Given the description of an element on the screen output the (x, y) to click on. 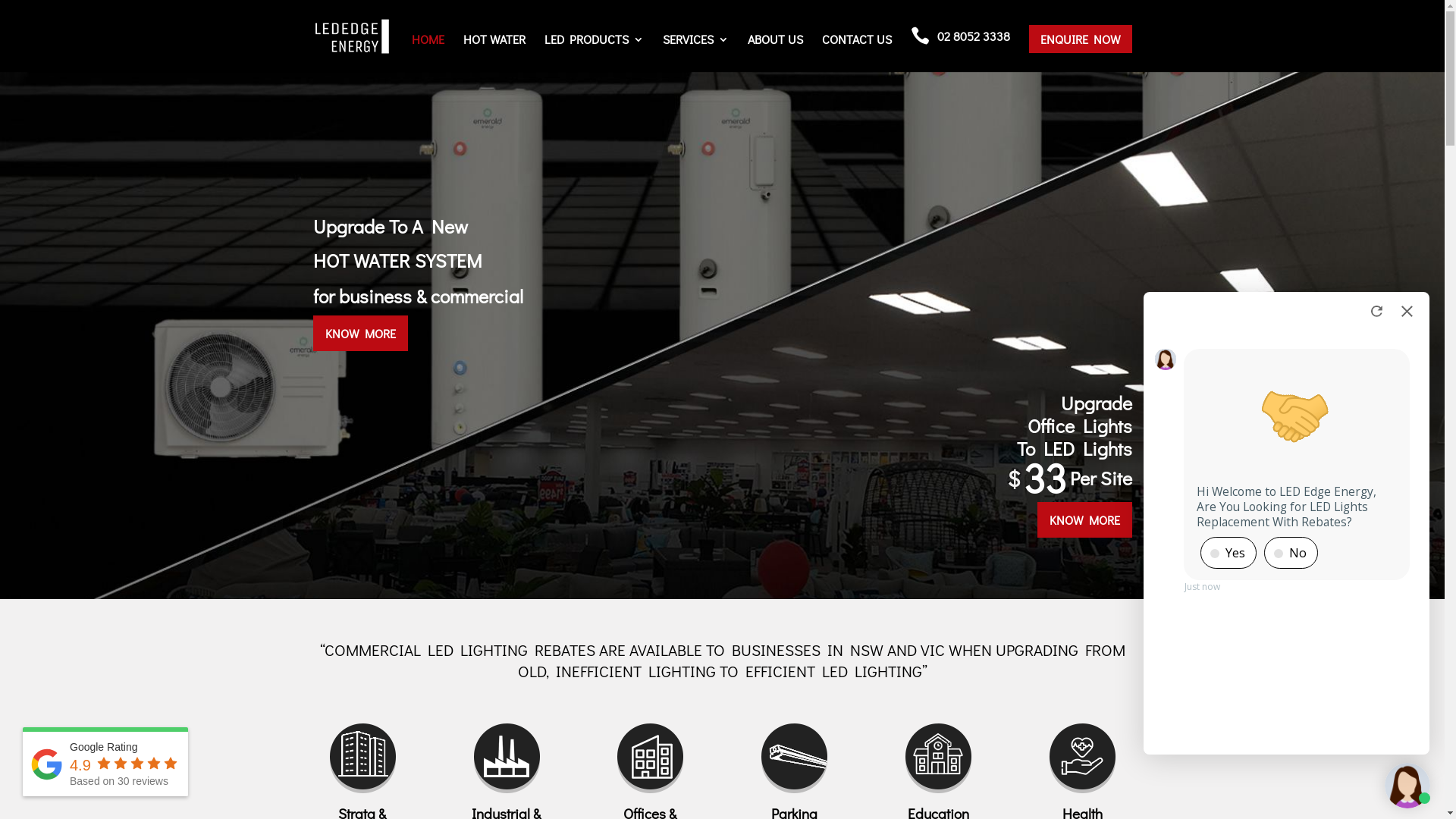
KNOW MORE Element type: text (1084, 519)
education-red Element type: hover (937, 757)
LED PRODUCTS Element type: text (593, 52)
KNOW MORE Element type: text (359, 333)
ENQUIRE NOW Element type: text (1079, 52)
parking-red Element type: hover (793, 757)
healthcare-red Element type: hover (1081, 757)
strata-red Element type: hover (362, 757)
HOT WATER Element type: text (493, 52)
offices-red Element type: hover (649, 757)
CONTACT US Element type: text (856, 52)
ABOUT US Element type: text (775, 52)
SERVICES Element type: text (695, 52)
HOME Element type: text (427, 52)
industry-red Element type: hover (506, 757)
